Given the description of an element on the screen output the (x, y) to click on. 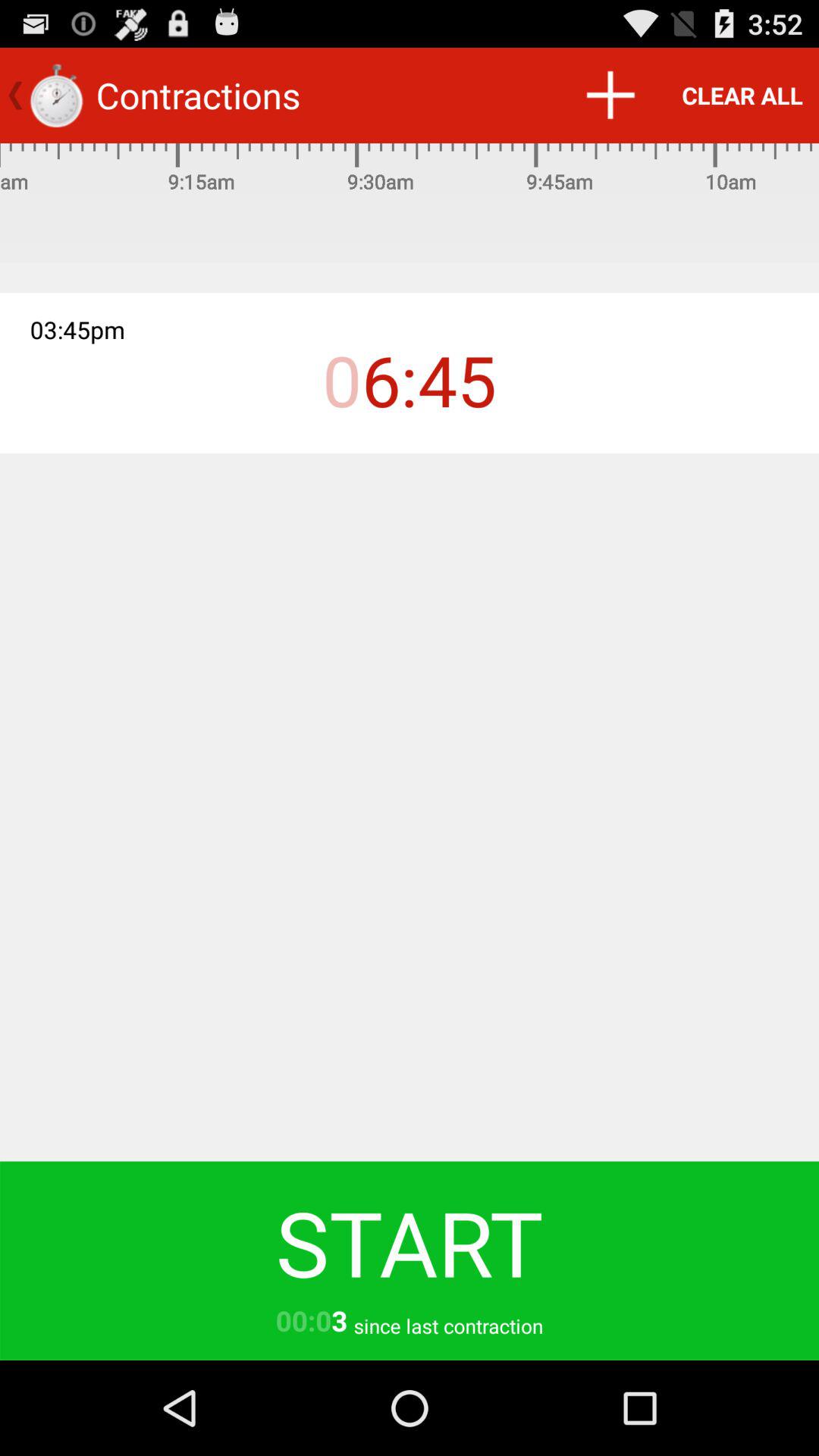
select item to the left of the clear all icon (610, 95)
